Given the description of an element on the screen output the (x, y) to click on. 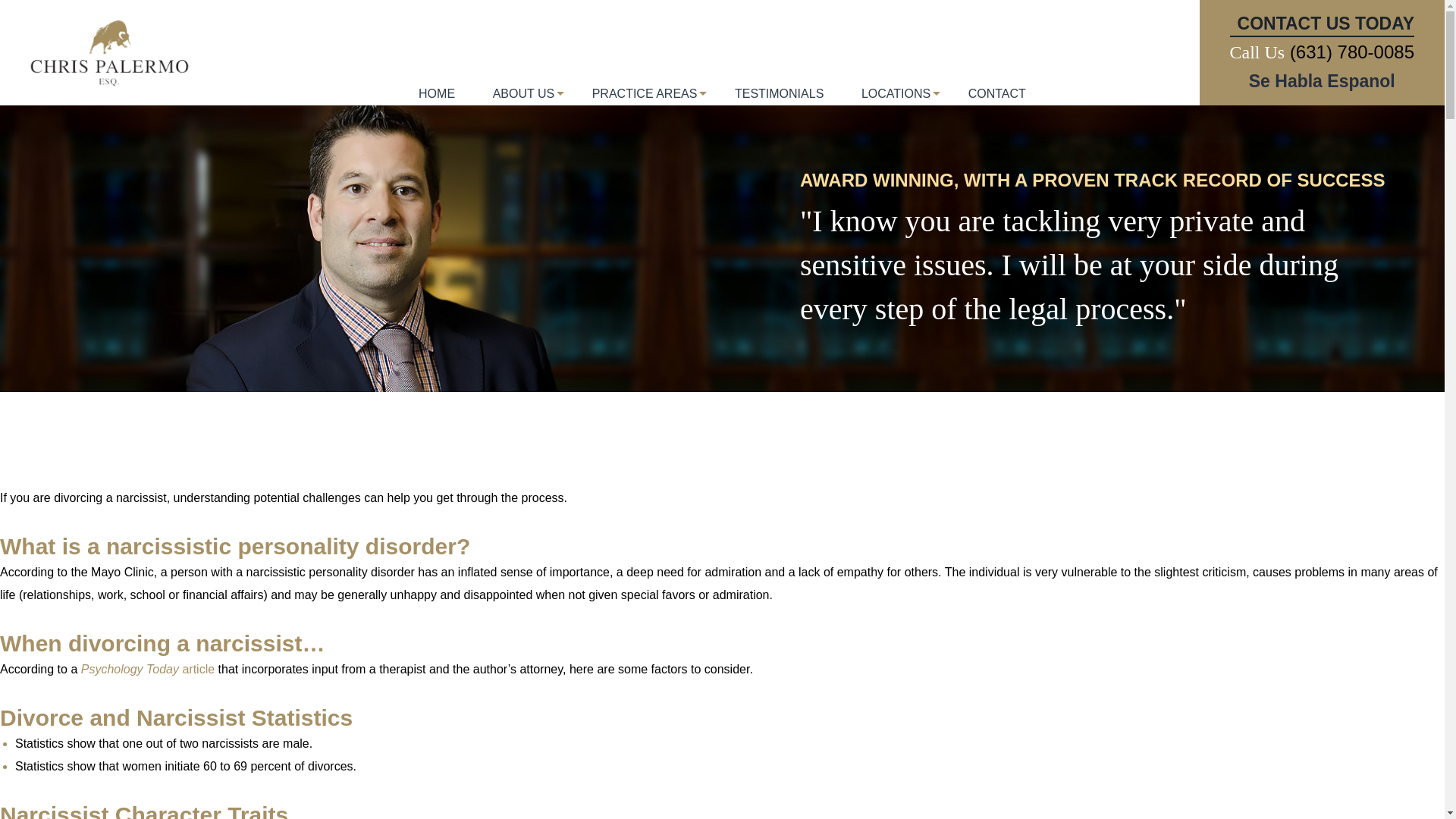
ABOUT US (523, 102)
PRACTICE AREAS (644, 102)
HOME (436, 102)
Se Habla Espanol (1321, 80)
LOCATIONS (895, 102)
AWARD WINNING, WITH A PROVEN TRACK RECORD OF SUCCESS (1095, 180)
CONTACT (997, 102)
TESTIMONIALS (779, 102)
Psychology Today article (147, 668)
